Given the description of an element on the screen output the (x, y) to click on. 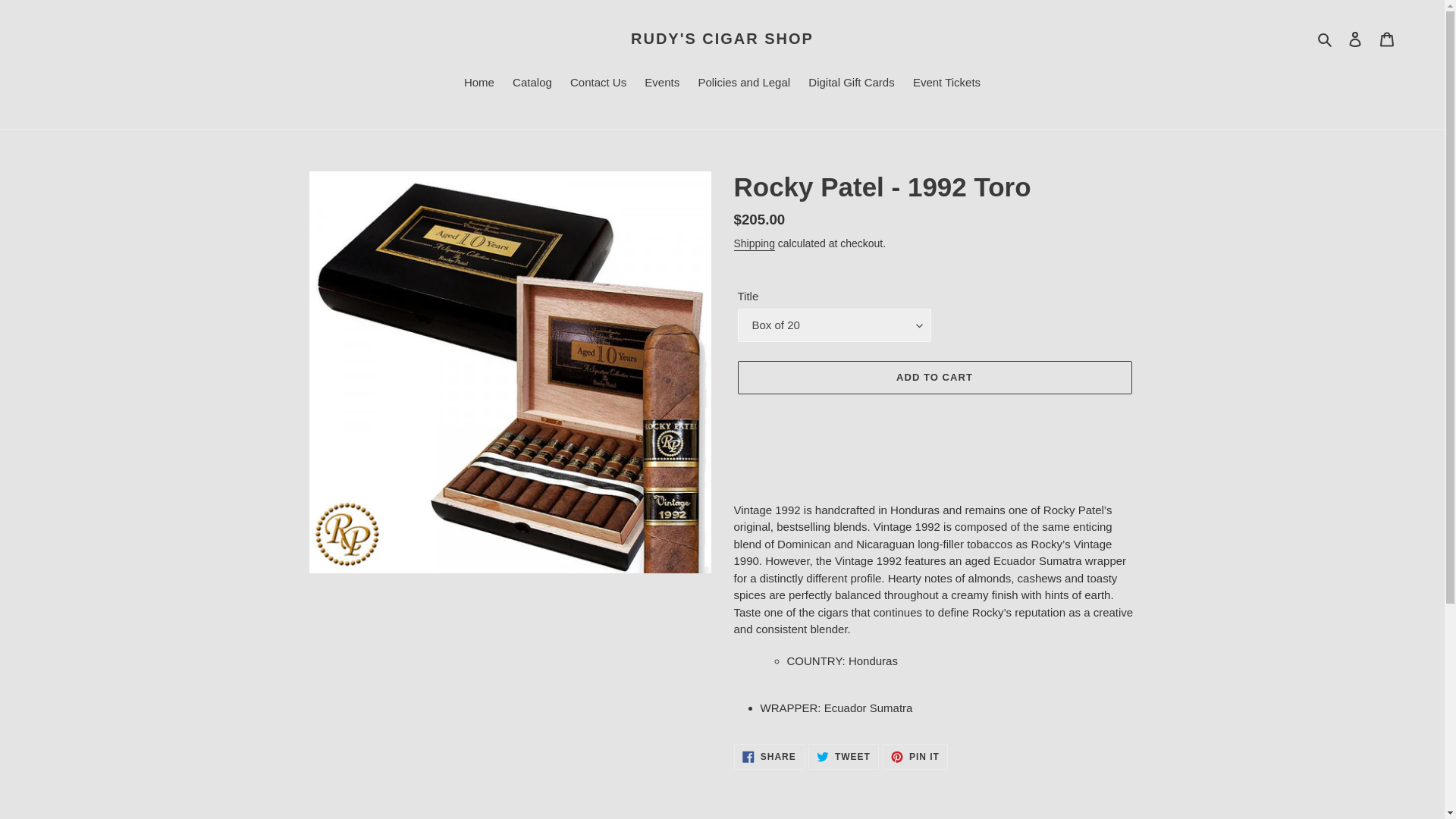
Search (1326, 38)
Catalog (532, 84)
ADD TO CART (933, 377)
Home (479, 84)
Events (662, 84)
Event Tickets (914, 756)
Contact Us (946, 84)
RUDY'S CIGAR SHOP (597, 84)
Log in (721, 38)
